Given the description of an element on the screen output the (x, y) to click on. 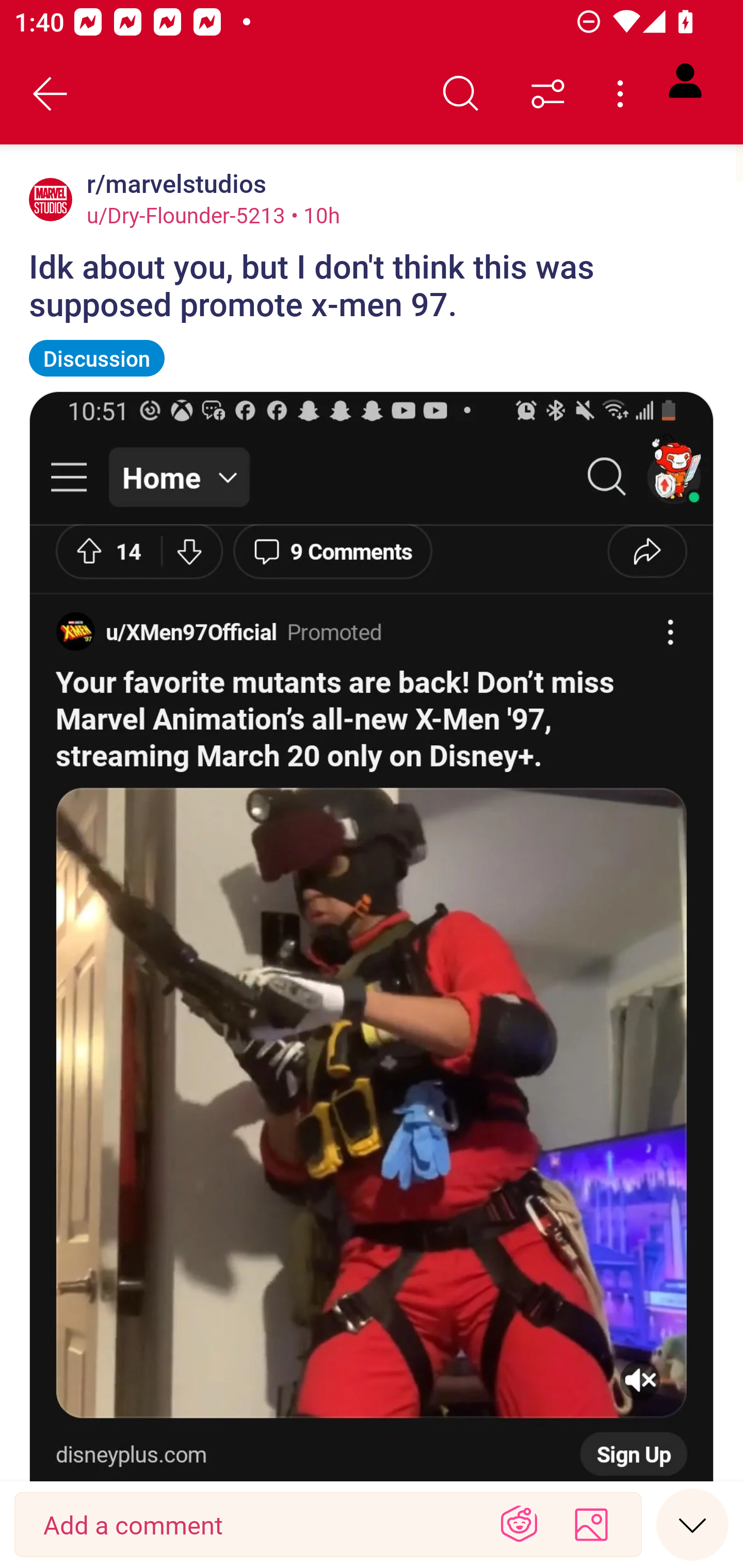
Back (50, 93)
Search comments (460, 93)
Sort comments (547, 93)
More options (623, 93)
r/marvelstudios (173, 183)
Avatar (50, 199)
u/Dry-Flounder-5213 (186, 214)
Discussion (96, 358)
Image (371, 935)
Speed read (692, 1524)
Add a comment (255, 1524)
Show Expressions (518, 1524)
Add an image (590, 1524)
